Given the description of an element on the screen output the (x, y) to click on. 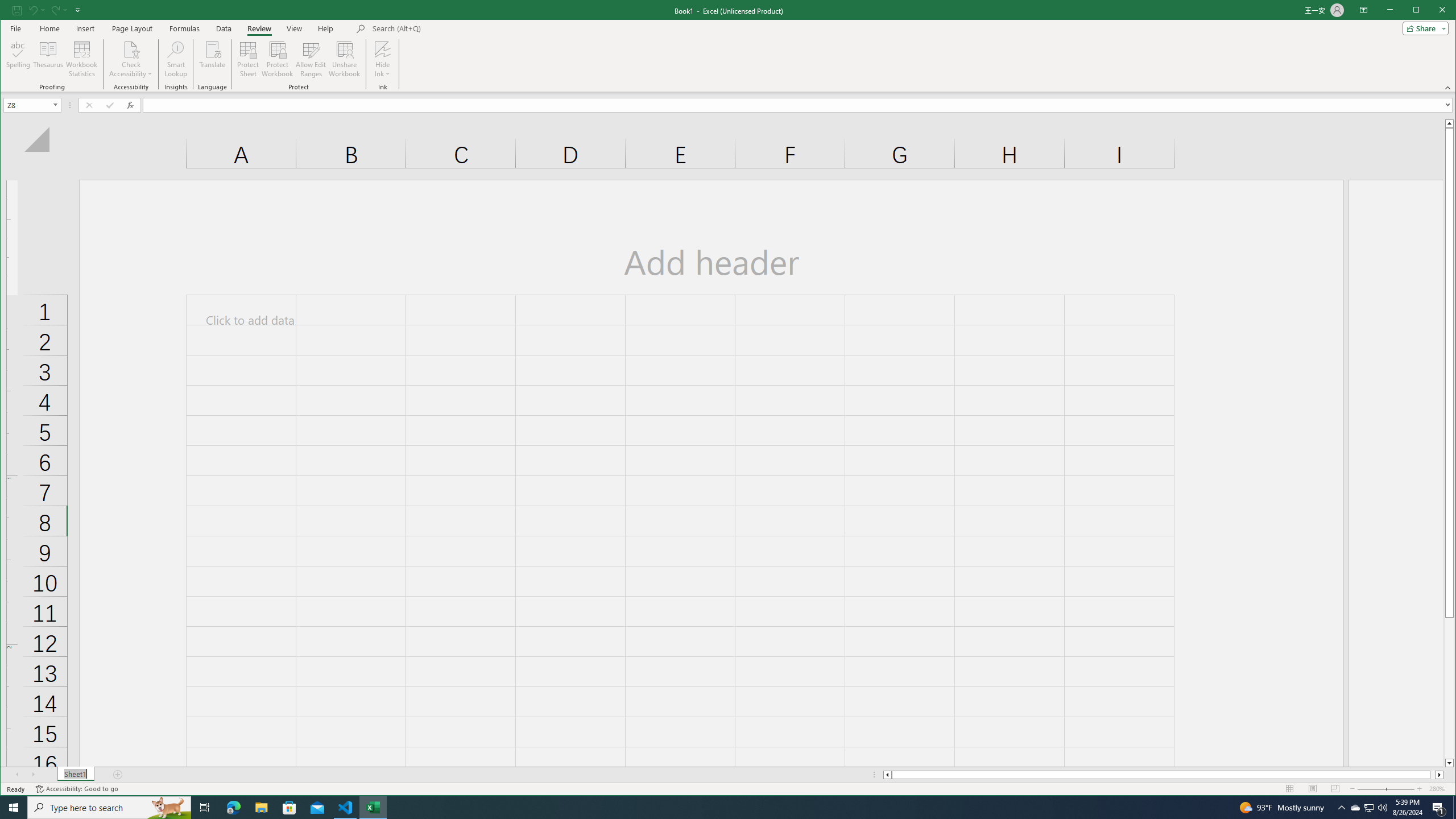
Task View (204, 807)
Action Center, 1 new notification (1439, 807)
Protect Workbook... (277, 59)
Hide Ink (382, 59)
Protect Sheet... (247, 59)
Microsoft search (451, 28)
Excel - 1 running window (373, 807)
Search highlights icon opens search home window (167, 807)
